Given the description of an element on the screen output the (x, y) to click on. 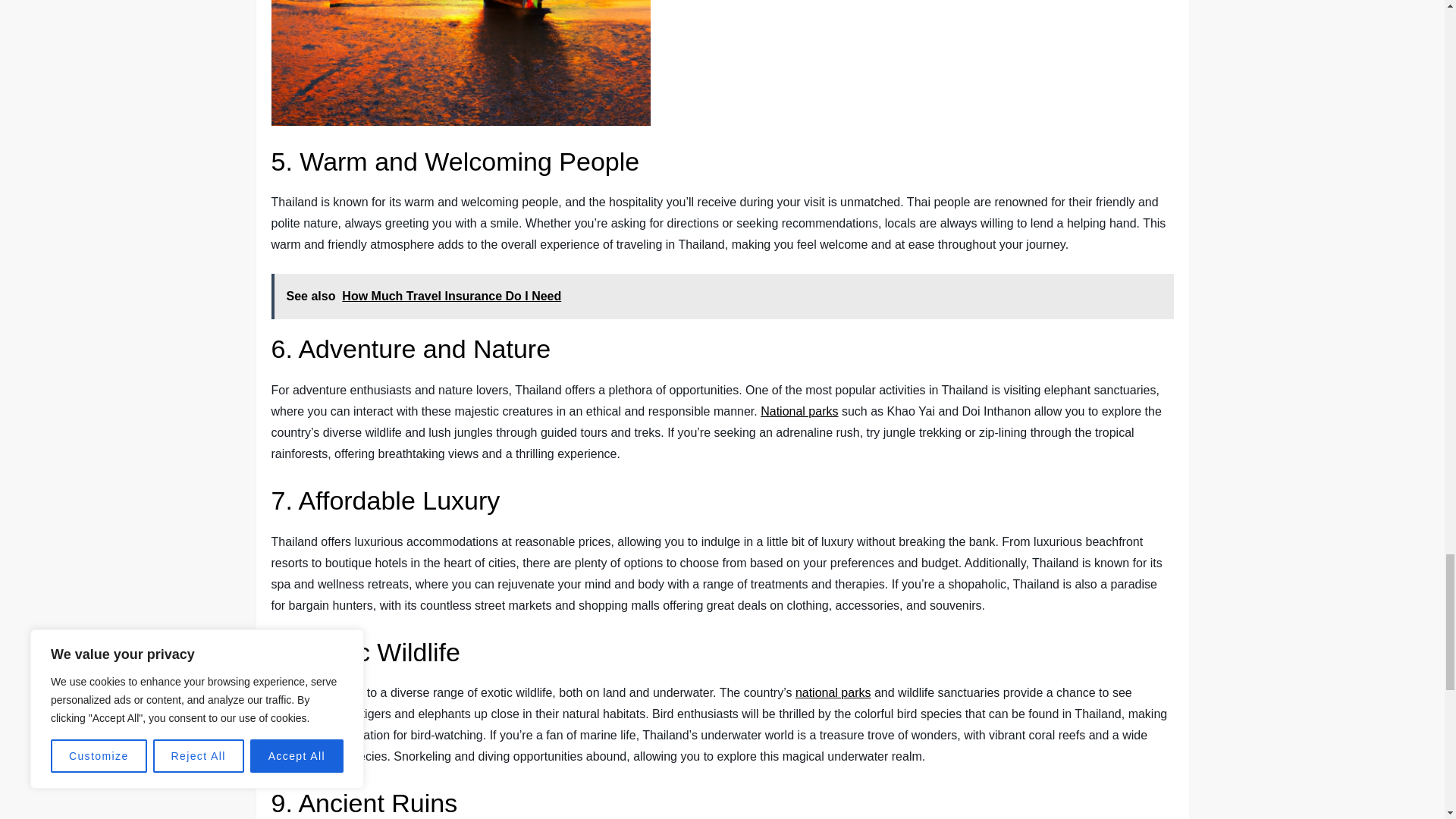
National parks (799, 410)
National parks (799, 410)
national parks (832, 692)
national parks (832, 692)
Why Travel To Thailand (460, 63)
See also  How Much Travel Insurance Do I Need (721, 296)
